Given the description of an element on the screen output the (x, y) to click on. 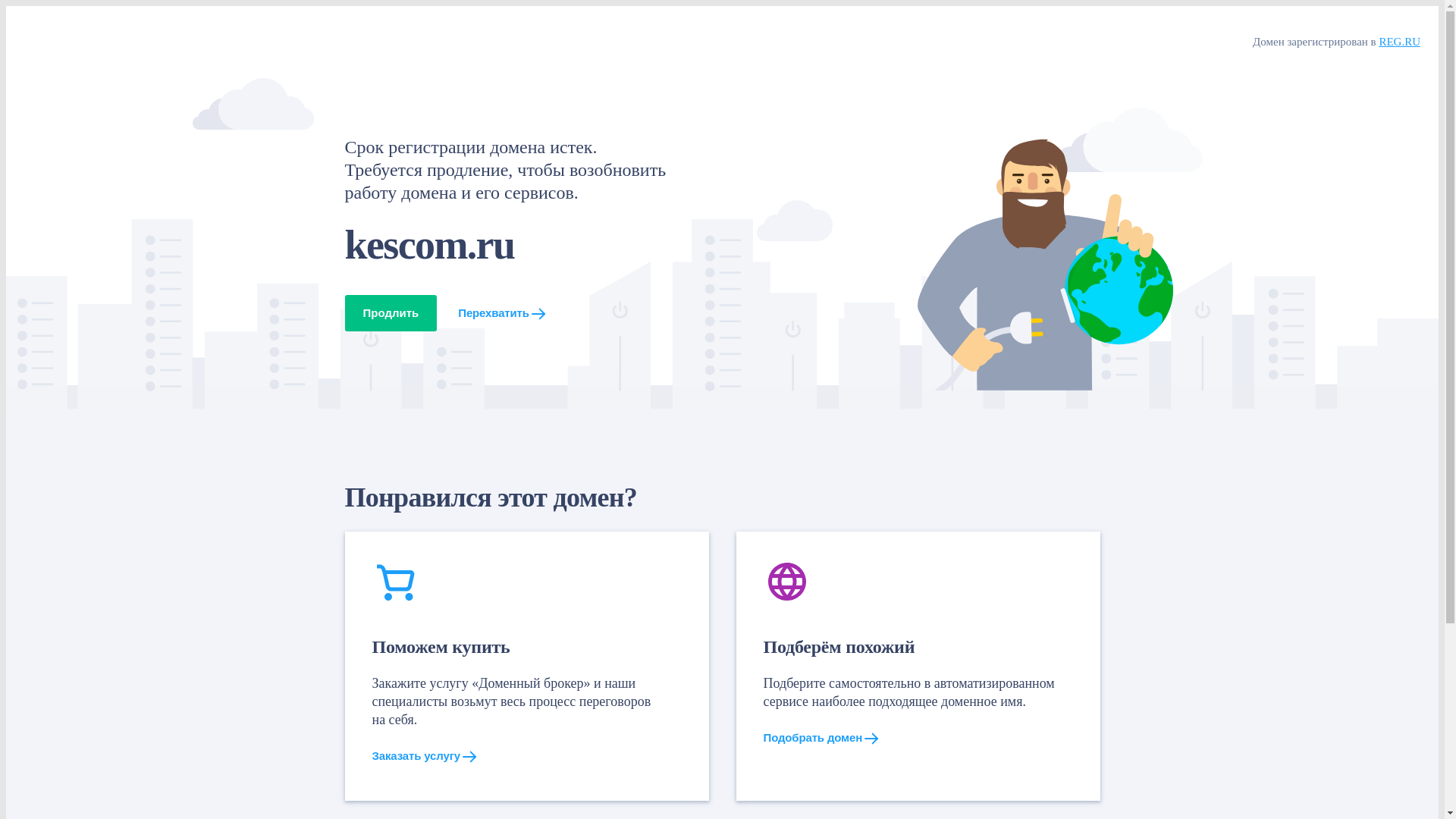
REG.RU (1399, 41)
